Given the description of an element on the screen output the (x, y) to click on. 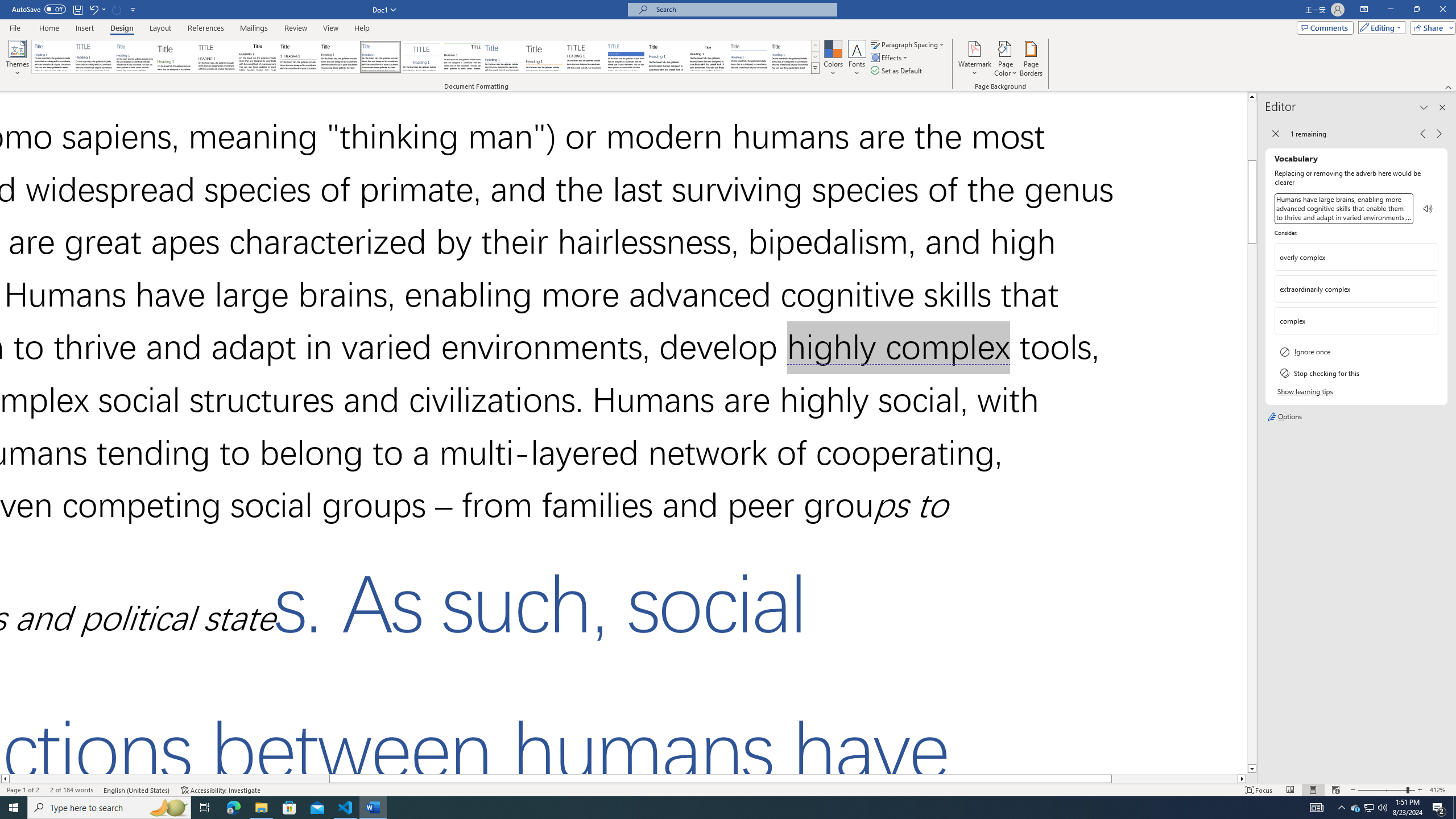
Lines (Simple) (503, 56)
More Options (103, 9)
Undo Outline Move Up (92, 9)
extraordinarily complex (1347, 289)
Comments (1325, 27)
Colors (832, 58)
Class: MsoCommandBar (728, 789)
AutomationID: QuickStylesSets (425, 56)
More options for extraordinarily complex (1428, 289)
Can't Repeat (117, 9)
Quick Access Toolbar (74, 9)
More options for complex (1428, 320)
Word 2013 (790, 56)
Basic (Stylish) (175, 56)
